Given the description of an element on the screen output the (x, y) to click on. 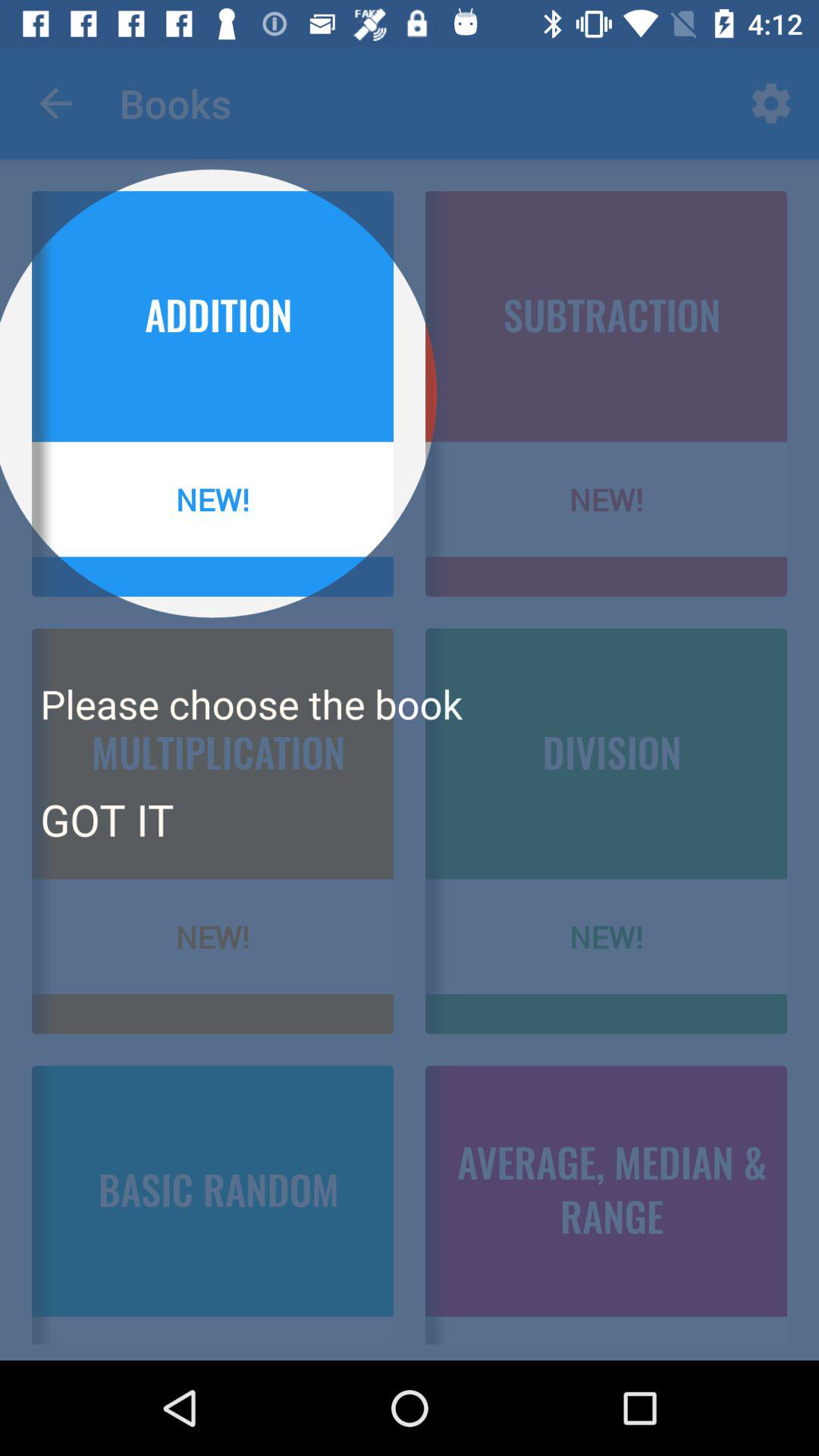
press item next to the books app (55, 103)
